Given the description of an element on the screen output the (x, y) to click on. 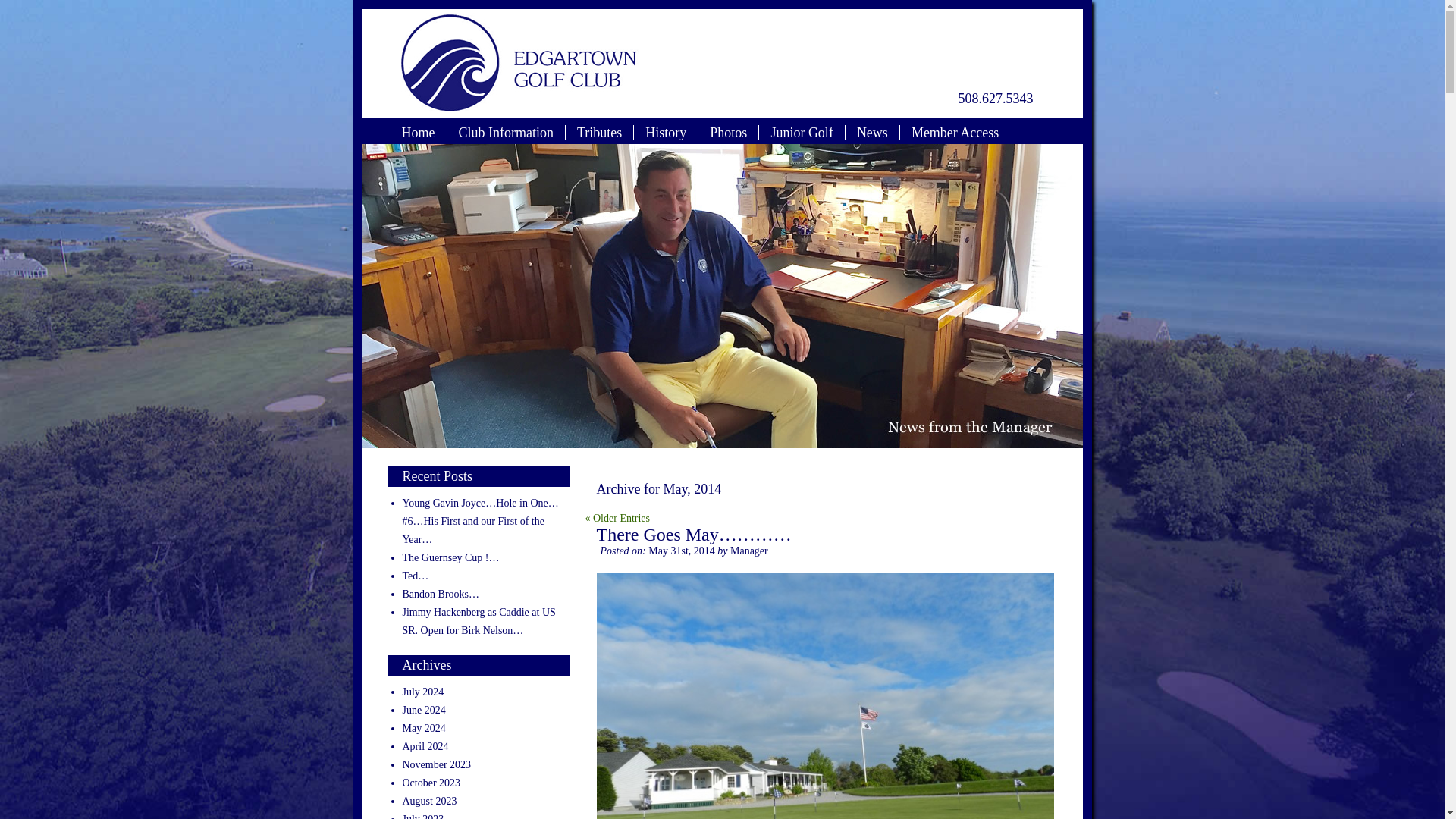
November 2023 (435, 764)
DSCN0438 (823, 695)
History (665, 132)
April 2024 (424, 746)
August 2023 (429, 800)
Tributes (599, 132)
July 2024 (422, 691)
October 2023 (430, 782)
Member Access (954, 132)
Photos (728, 132)
Club Information (505, 132)
News (872, 132)
Home (417, 132)
June 2024 (423, 709)
May 2024 (423, 727)
